Given the description of an element on the screen output the (x, y) to click on. 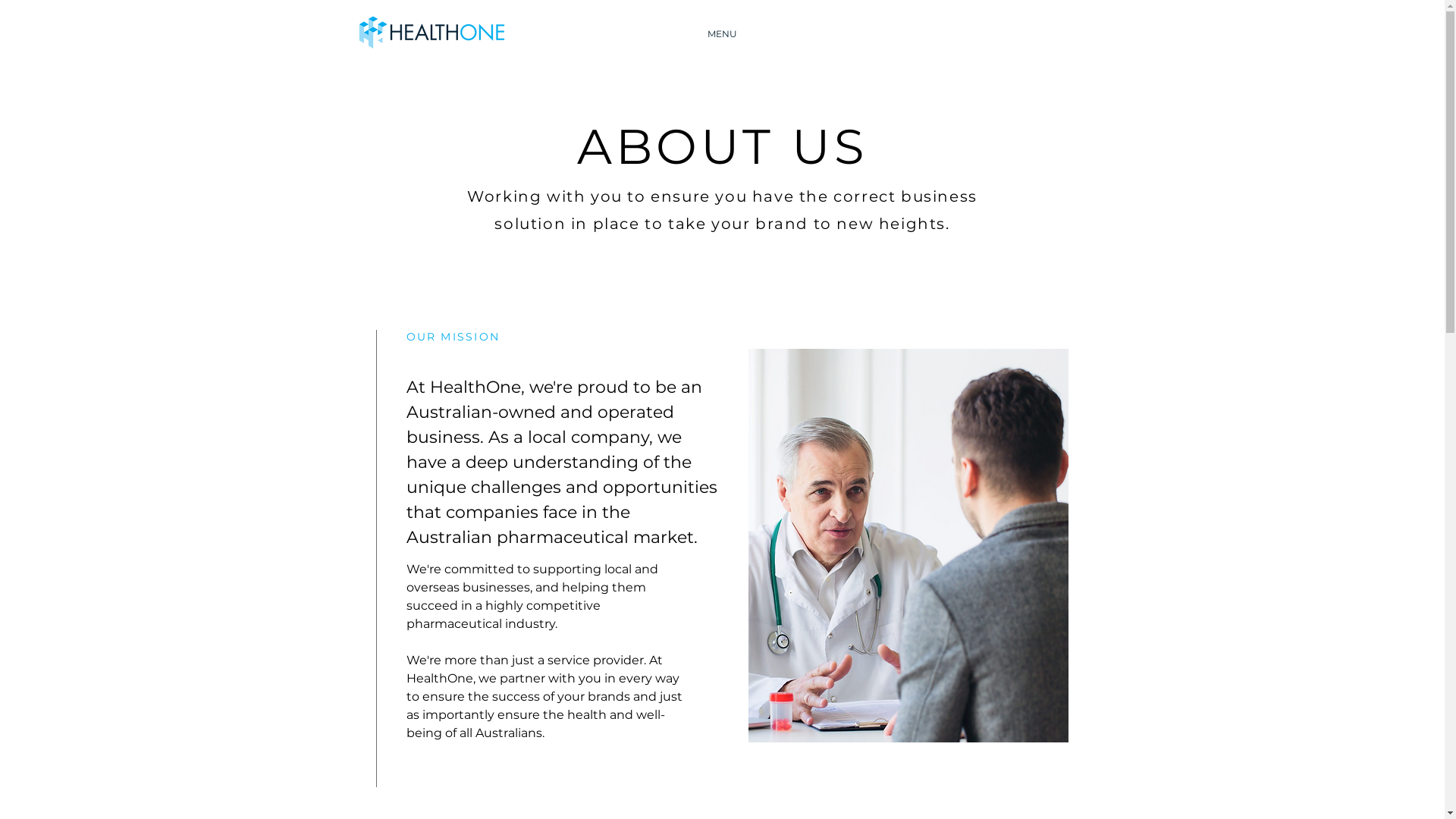
MENU Element type: text (722, 34)
